Given the description of an element on the screen output the (x, y) to click on. 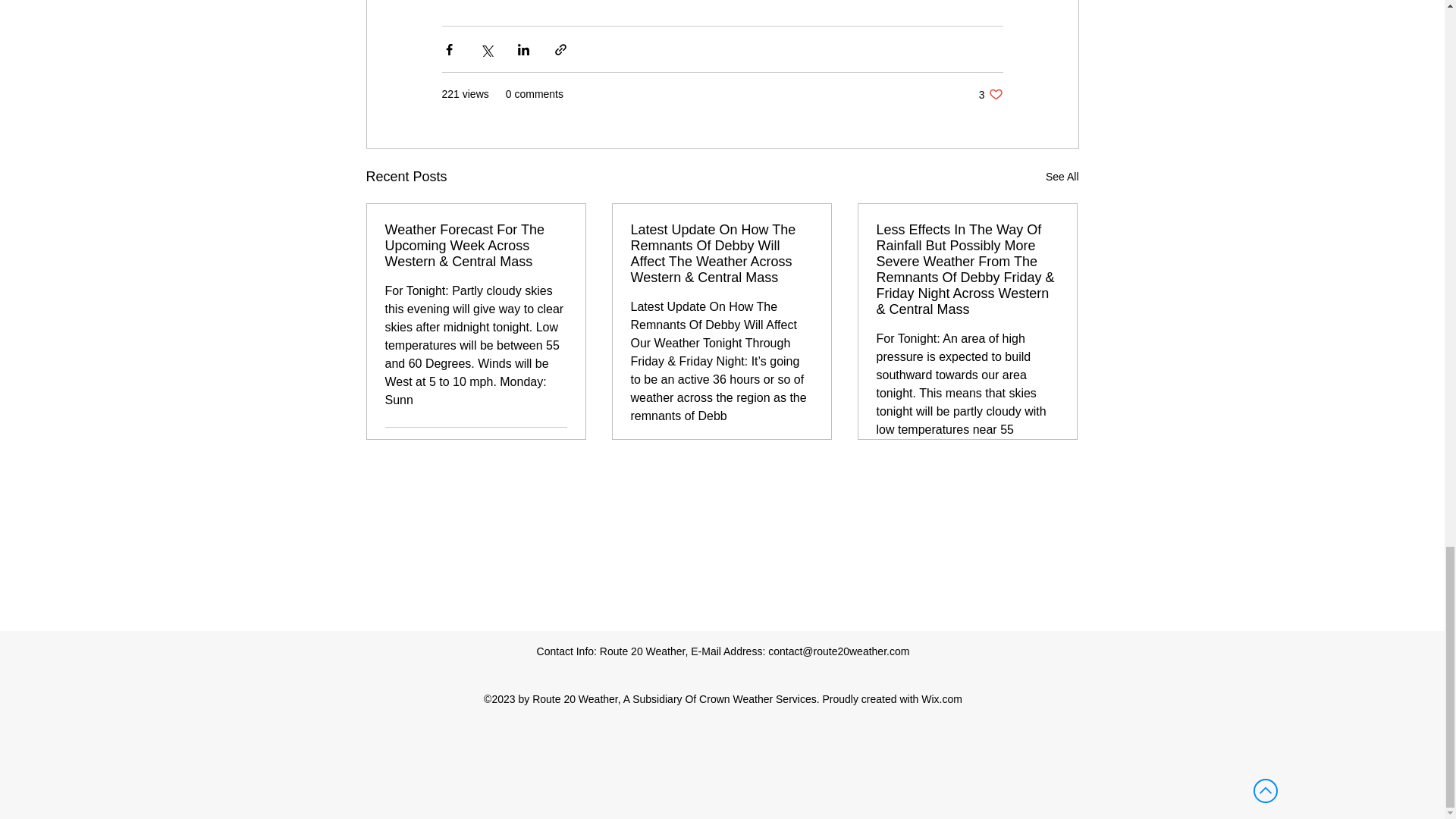
3 likes. Post not marked as liked (555, 445)
See All (1061, 177)
